Given the description of an element on the screen output the (x, y) to click on. 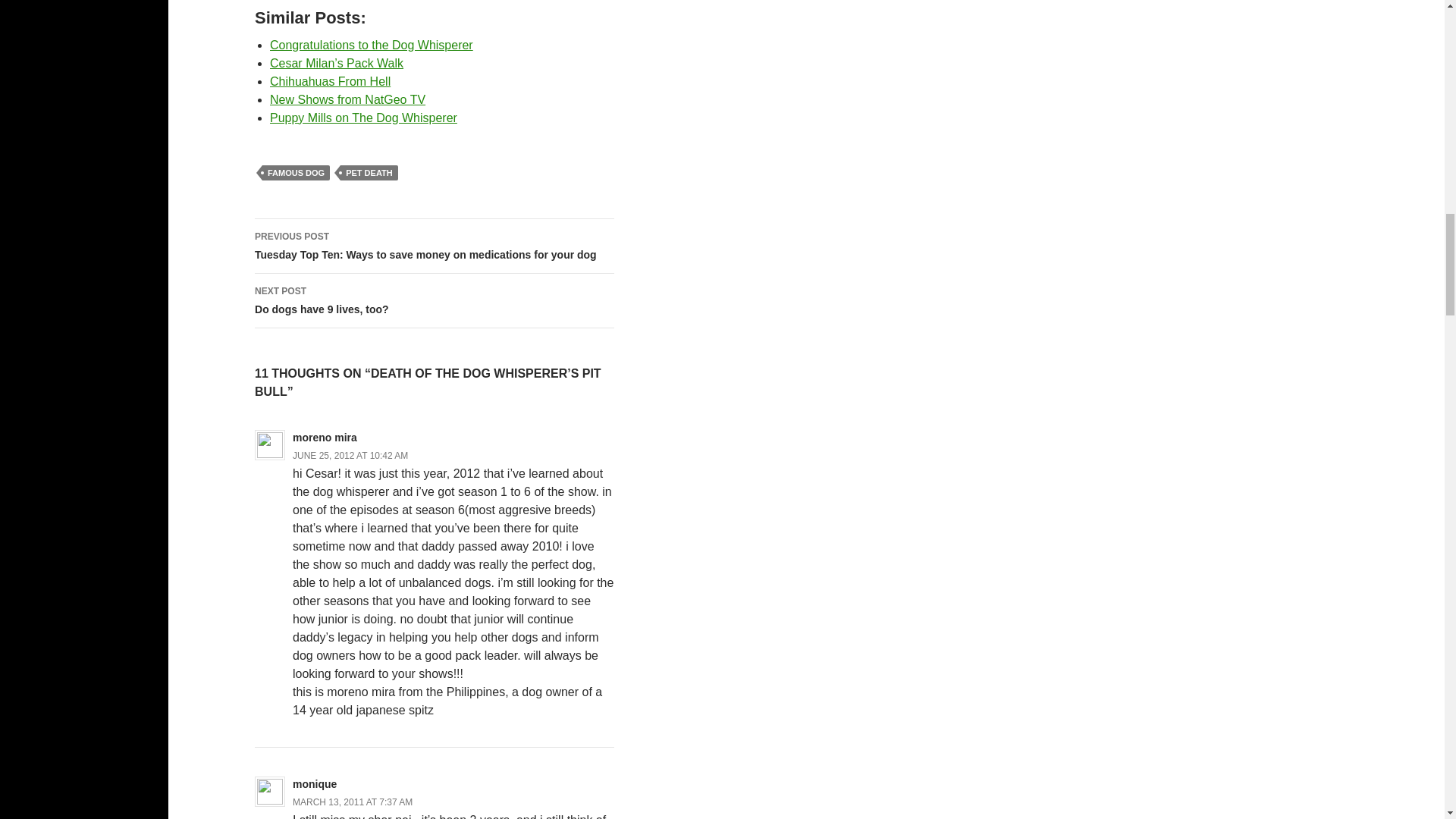
Congratulations to the Dog Whisperer (371, 44)
PET DEATH (368, 172)
Puppy Mills on The Dog Whisperer (363, 117)
New Shows from NatGeo TV (434, 300)
Chihuahuas From Hell (347, 99)
Chihuahuas From Hell (329, 81)
MARCH 13, 2011 AT 7:37 AM (329, 81)
New Shows from NatGeo TV (352, 801)
FAMOUS DOG (347, 99)
Puppy Mills on The Dog Whisperer (296, 172)
JUNE 25, 2012 AT 10:42 AM (363, 117)
Congratulations to the Dog Whisperer (349, 455)
